Given the description of an element on the screen output the (x, y) to click on. 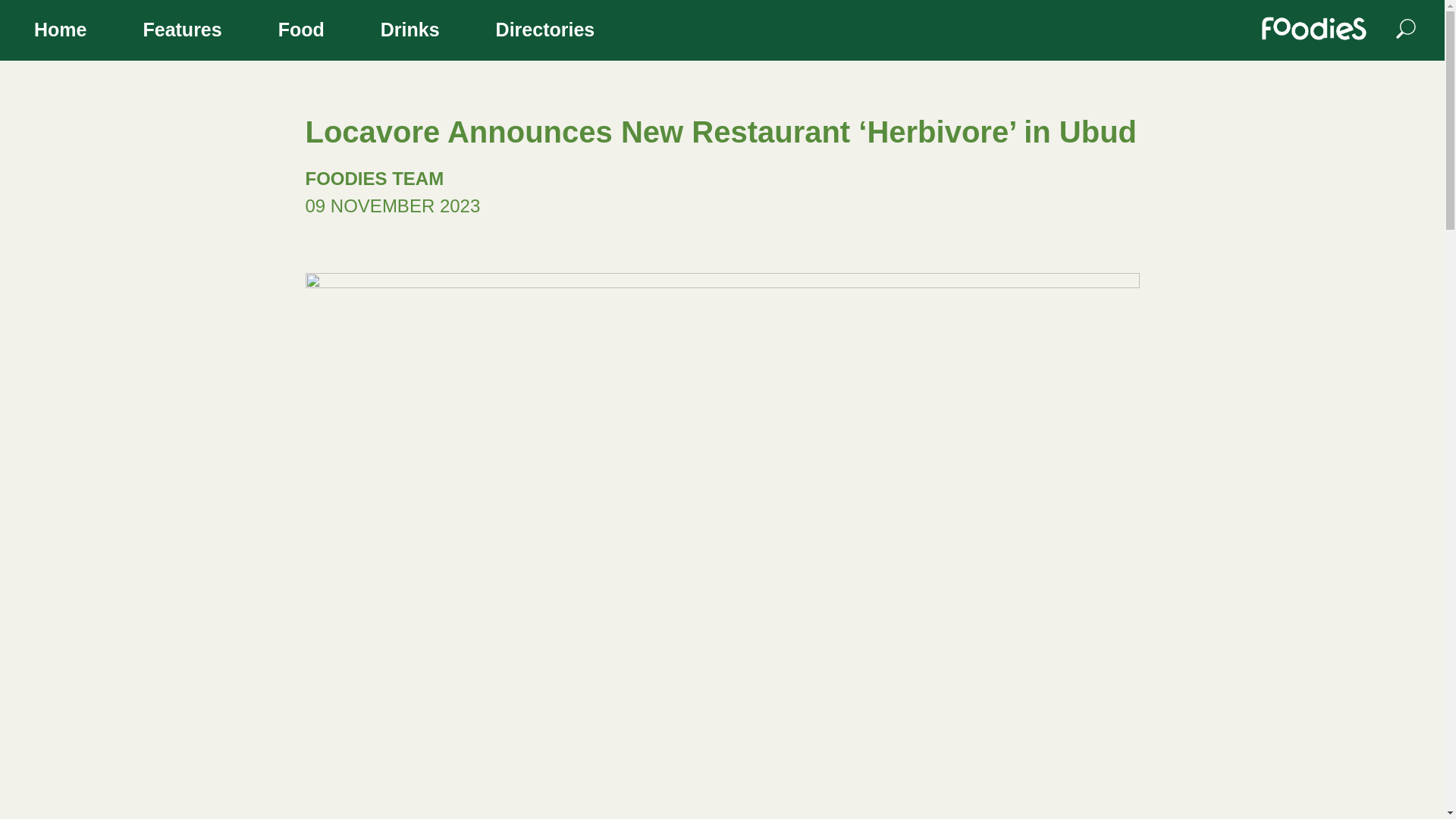
Drinks (410, 31)
Home (60, 31)
Directories (545, 31)
Food (301, 31)
Features (181, 31)
